Given the description of an element on the screen output the (x, y) to click on. 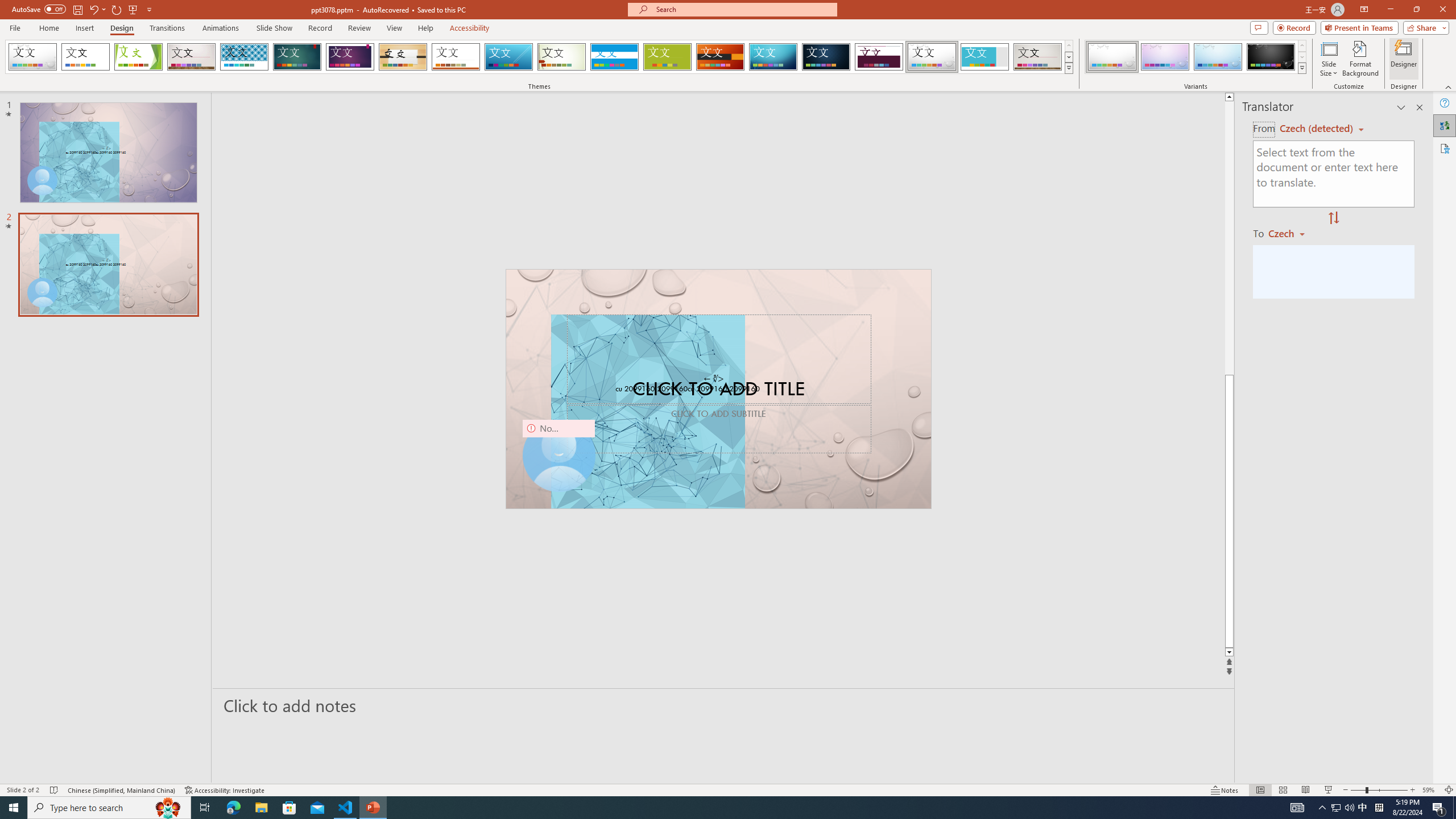
TextBox 61 (717, 389)
AutomationID: ThemeVariantsGallery (1195, 56)
